Given the description of an element on the screen output the (x, y) to click on. 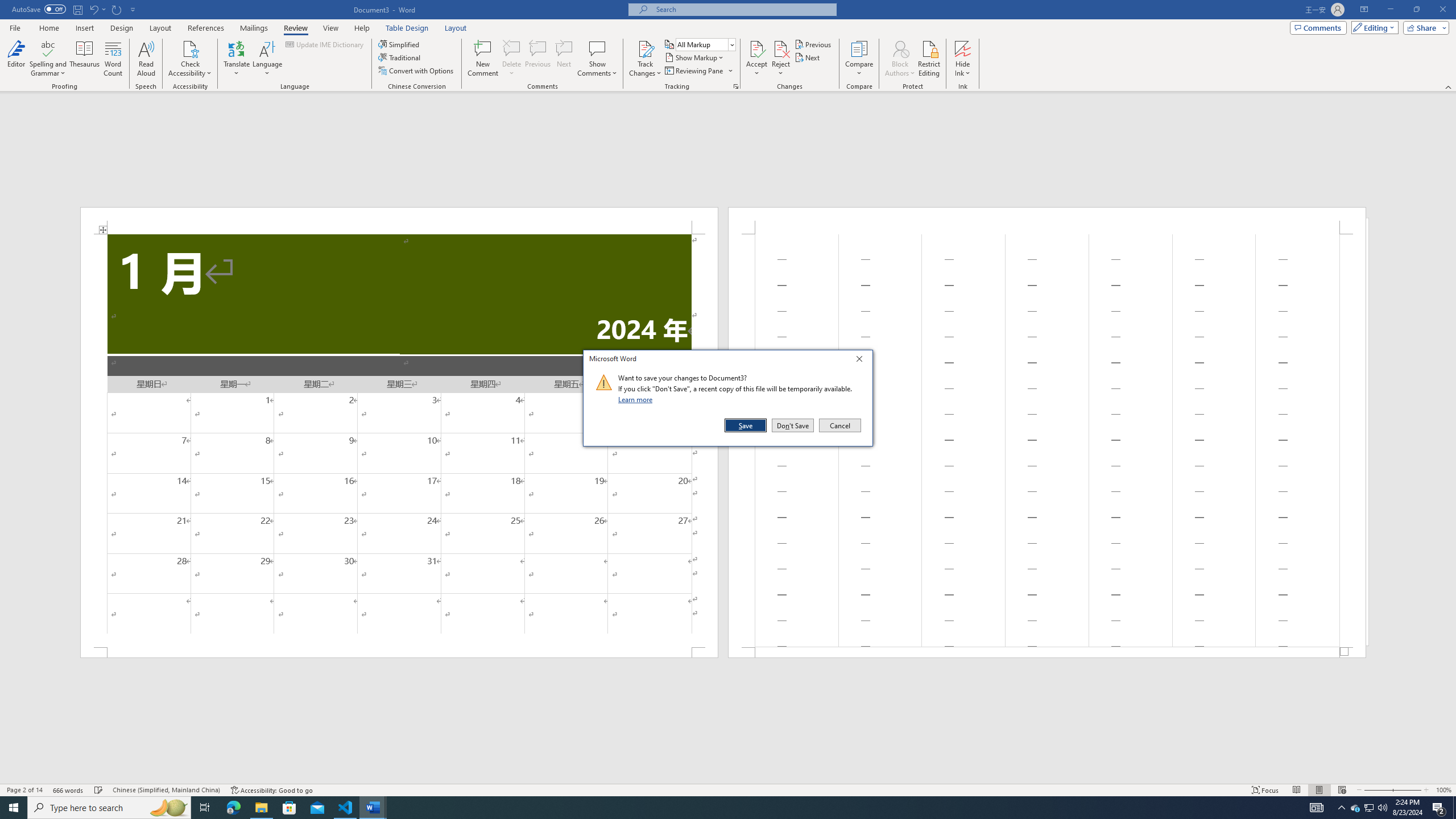
Word Count (113, 58)
Convert with Options... (417, 69)
Delete (511, 58)
Task View (204, 807)
Display for Review (705, 44)
Block Authors (900, 58)
Show Comments (597, 58)
Reject (780, 58)
